Given the description of an element on the screen output the (x, y) to click on. 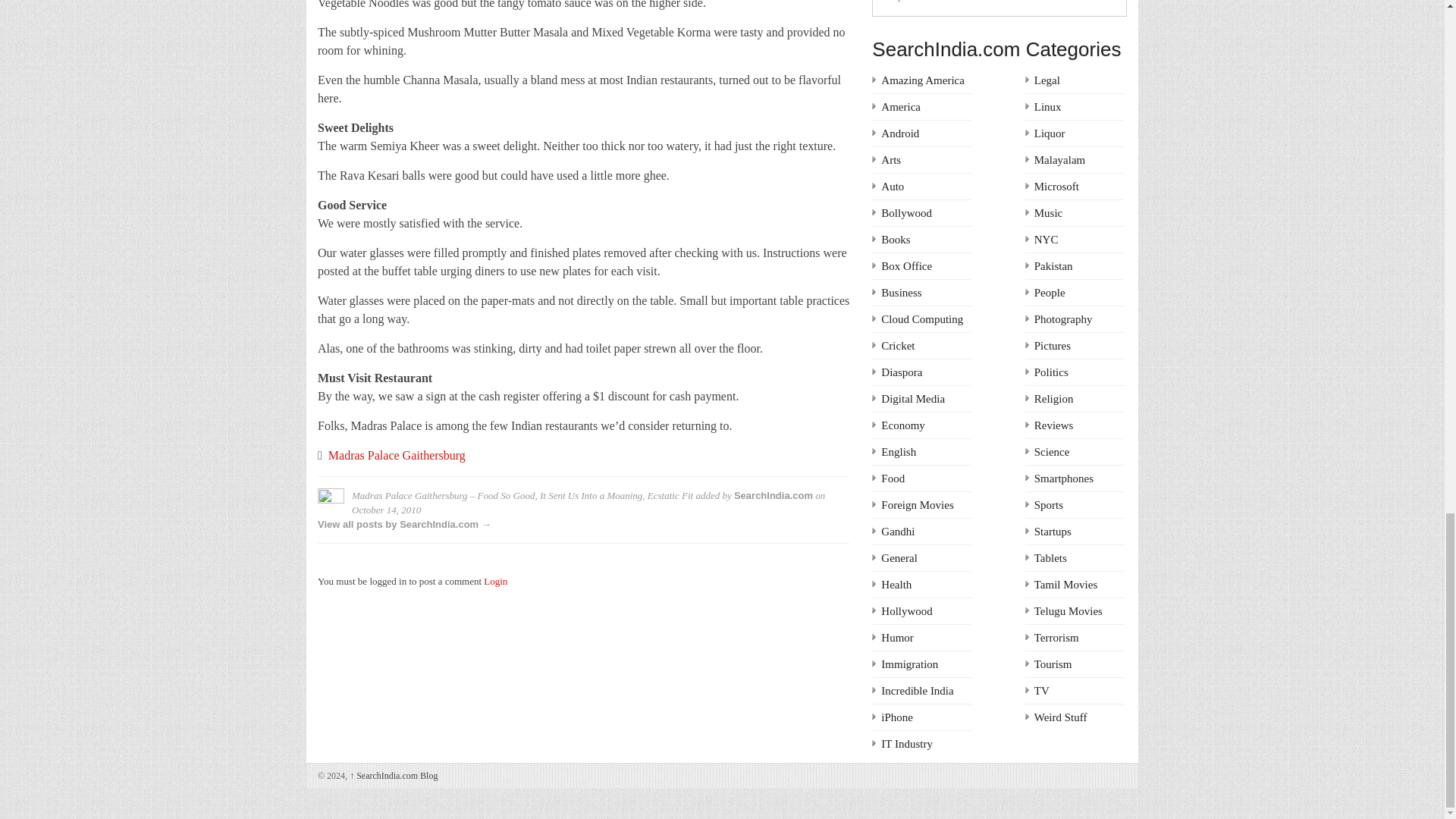
SearchIndia.com (772, 495)
Login (494, 581)
Madras Palace Gaithersburg (397, 454)
